Given the description of an element on the screen output the (x, y) to click on. 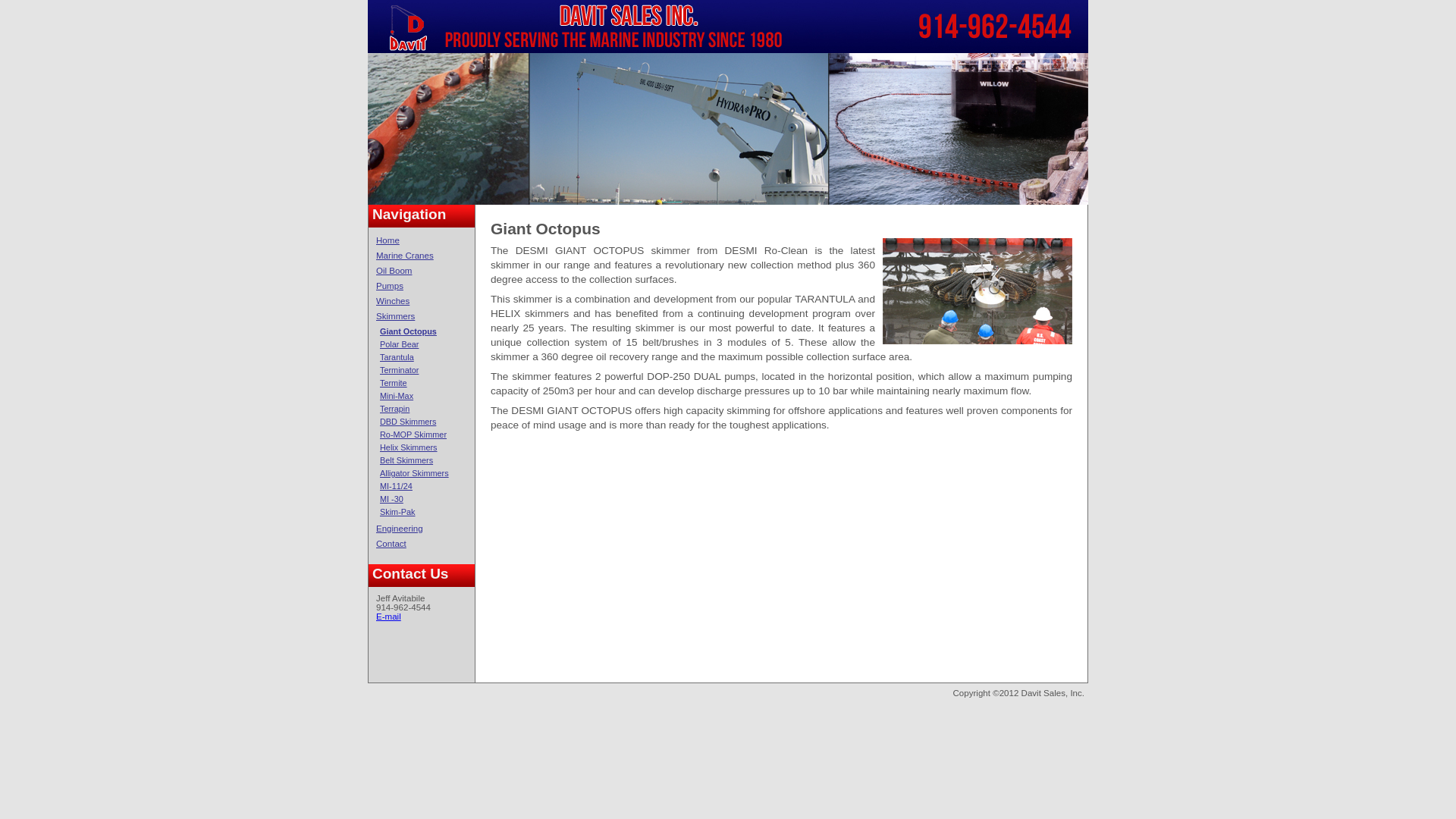
Termite (393, 382)
Mini-Max (396, 395)
Tarantula (396, 356)
Skimmers (394, 316)
Skim-Pak (397, 511)
DBD Skimmers (407, 420)
Terminator (399, 369)
Terrapin (394, 408)
Ro-MOP Skimmer (413, 433)
Alligator Skimmers (414, 472)
